Given the description of an element on the screen output the (x, y) to click on. 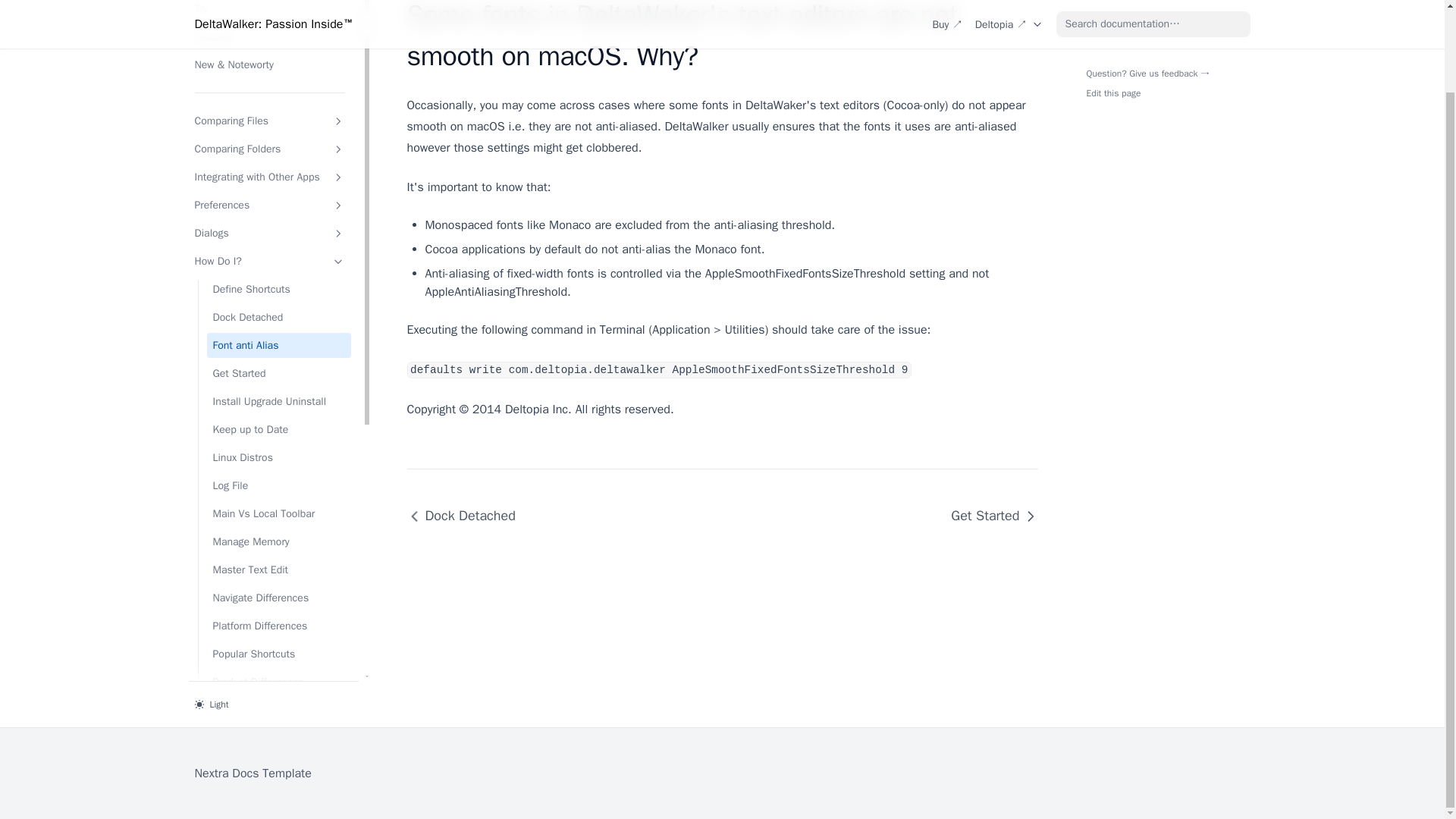
Change theme (272, 703)
Comparing Folders (268, 148)
Get Started (987, 515)
Comparing Files (268, 120)
Dock Detached (466, 515)
Features (268, 36)
Integrating with Other Apps (268, 176)
Preferences (268, 204)
Try (268, 10)
